Given the description of an element on the screen output the (x, y) to click on. 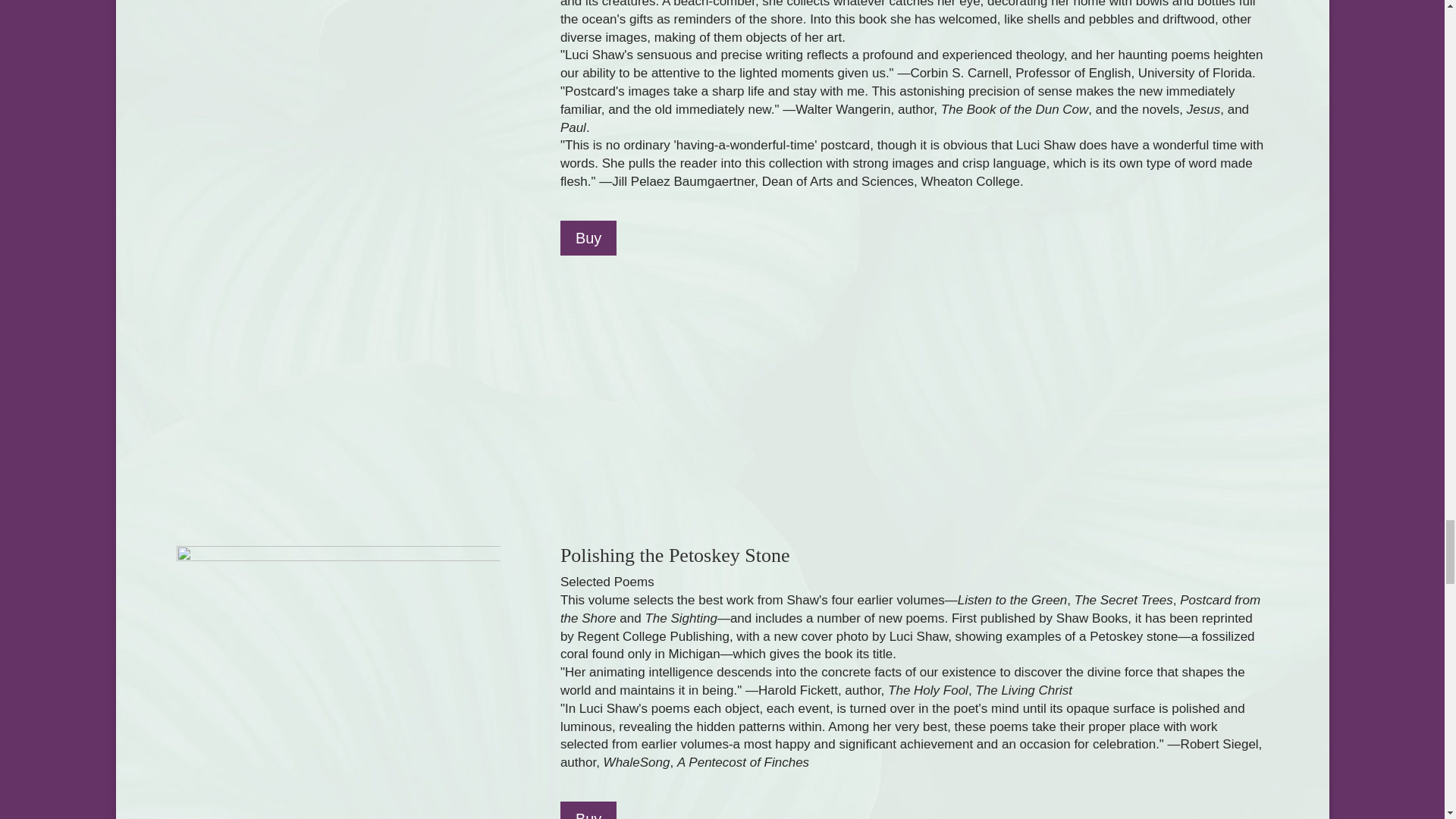
polishing-the-petoskey-stone (337, 682)
